Given the description of an element on the screen output the (x, y) to click on. 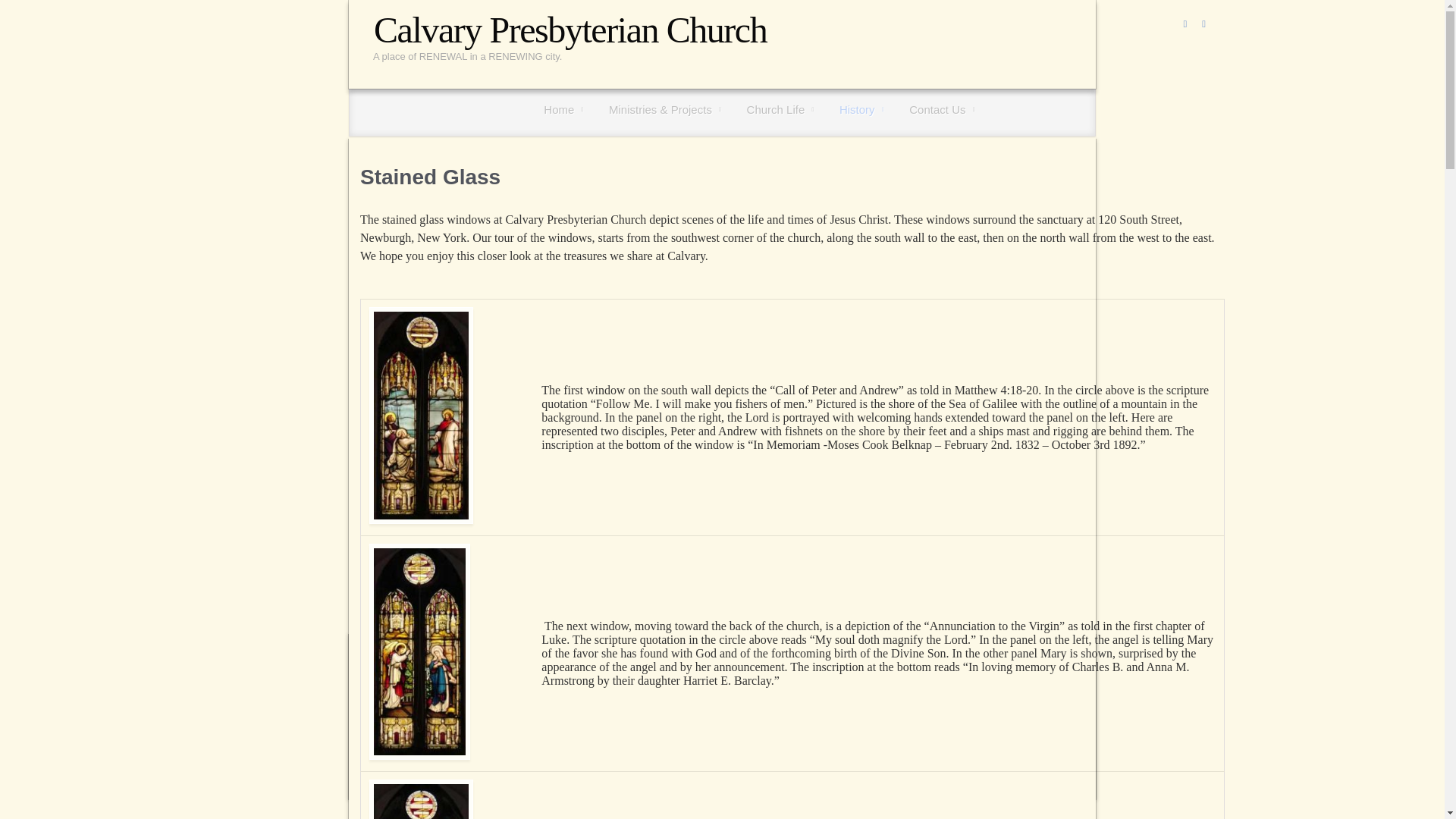
Calvary Presbyterian Church (576, 29)
Church Life (777, 109)
Home (560, 109)
Contact Us (938, 109)
History (858, 109)
